Given the description of an element on the screen output the (x, y) to click on. 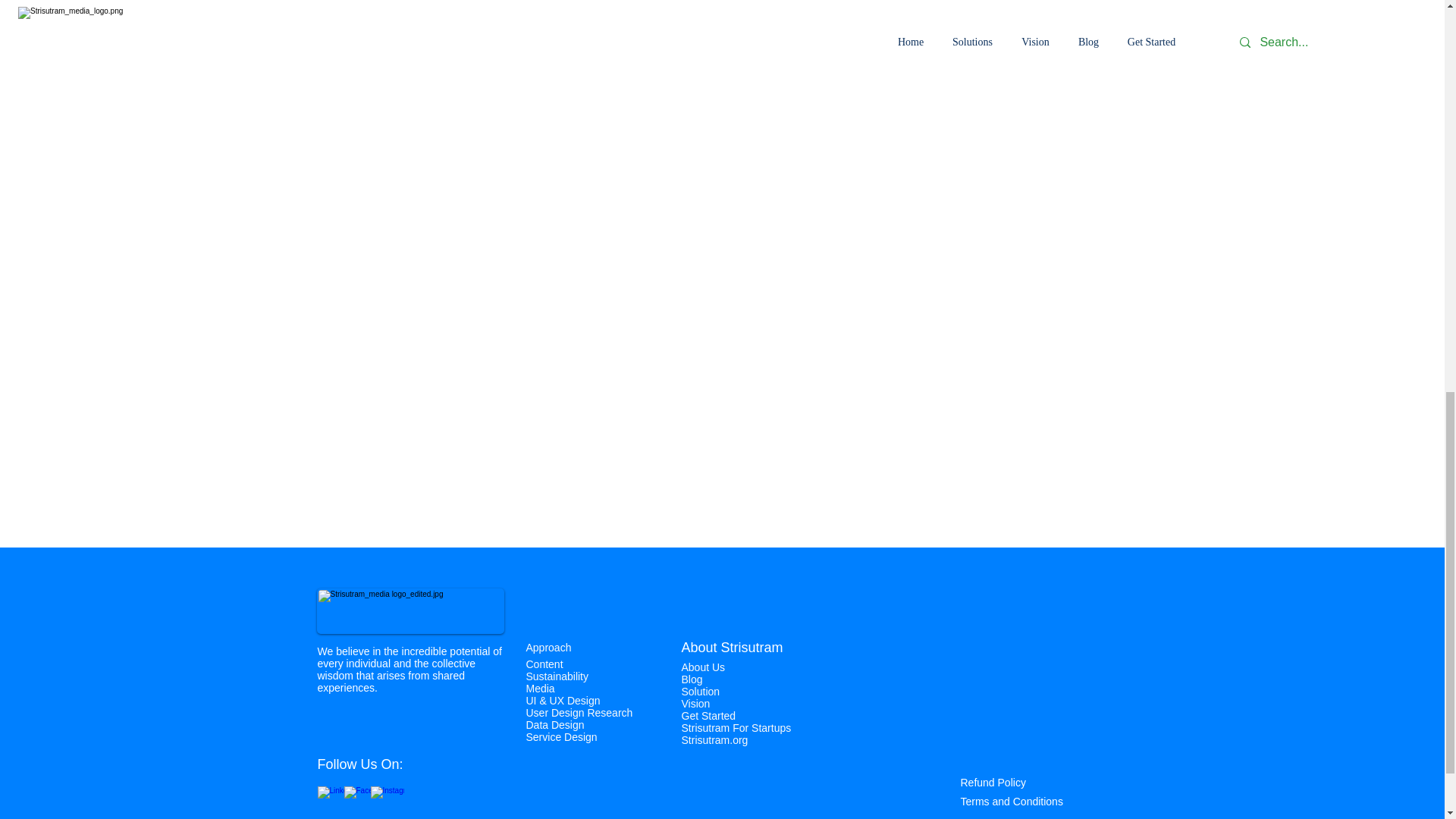
Black White Orange Professional Concept  (410, 610)
Terms and Conditions (1010, 801)
Refund Policy (992, 782)
